Given the description of an element on the screen output the (x, y) to click on. 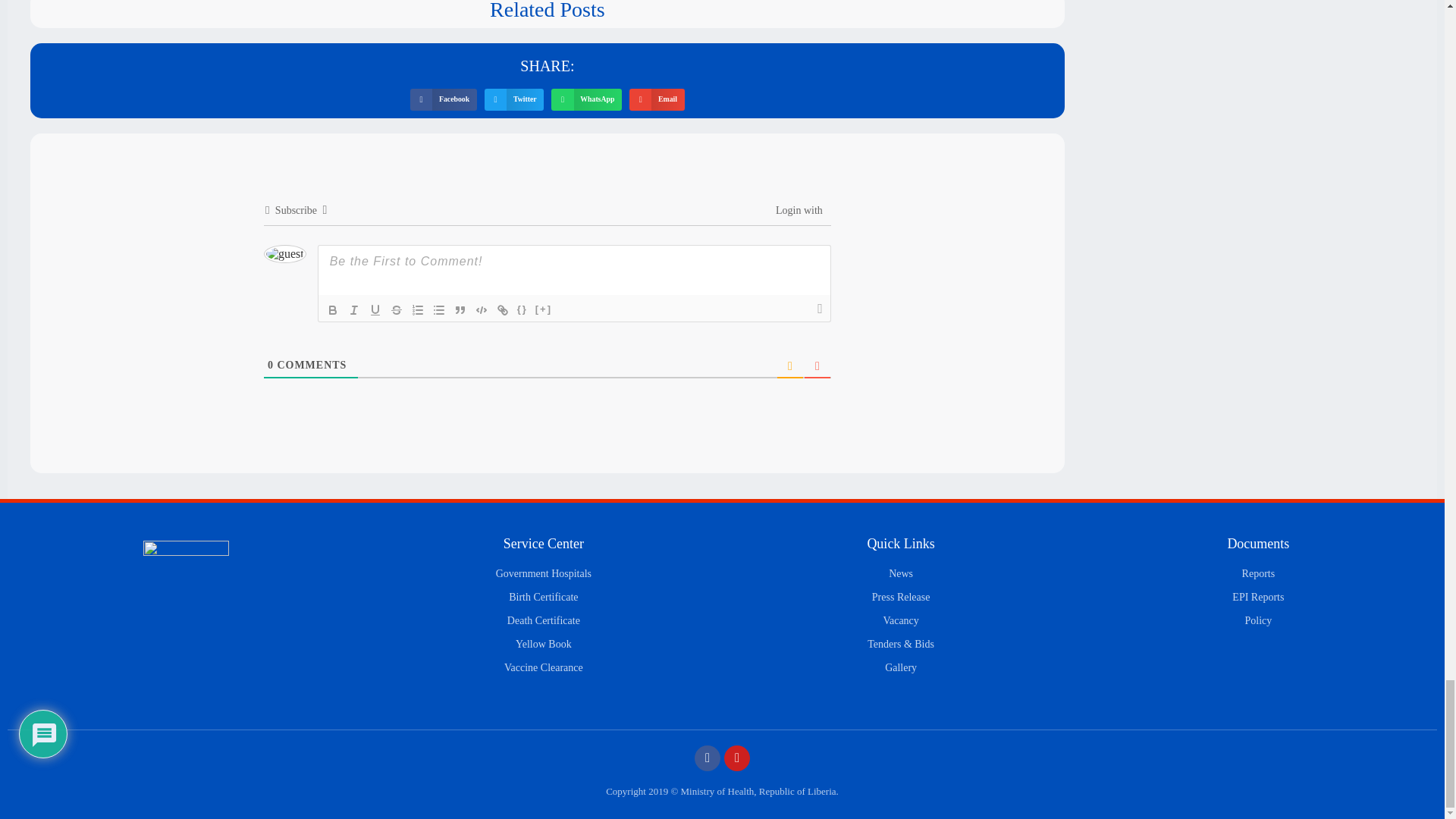
Ordered List (417, 310)
Strike (396, 310)
Code Block (481, 310)
Source Code (522, 310)
Italic (354, 310)
Blockquote (459, 310)
Link (502, 310)
Spoiler (543, 310)
Bold (332, 310)
Unordered List (438, 310)
Underline (375, 310)
